Given the description of an element on the screen output the (x, y) to click on. 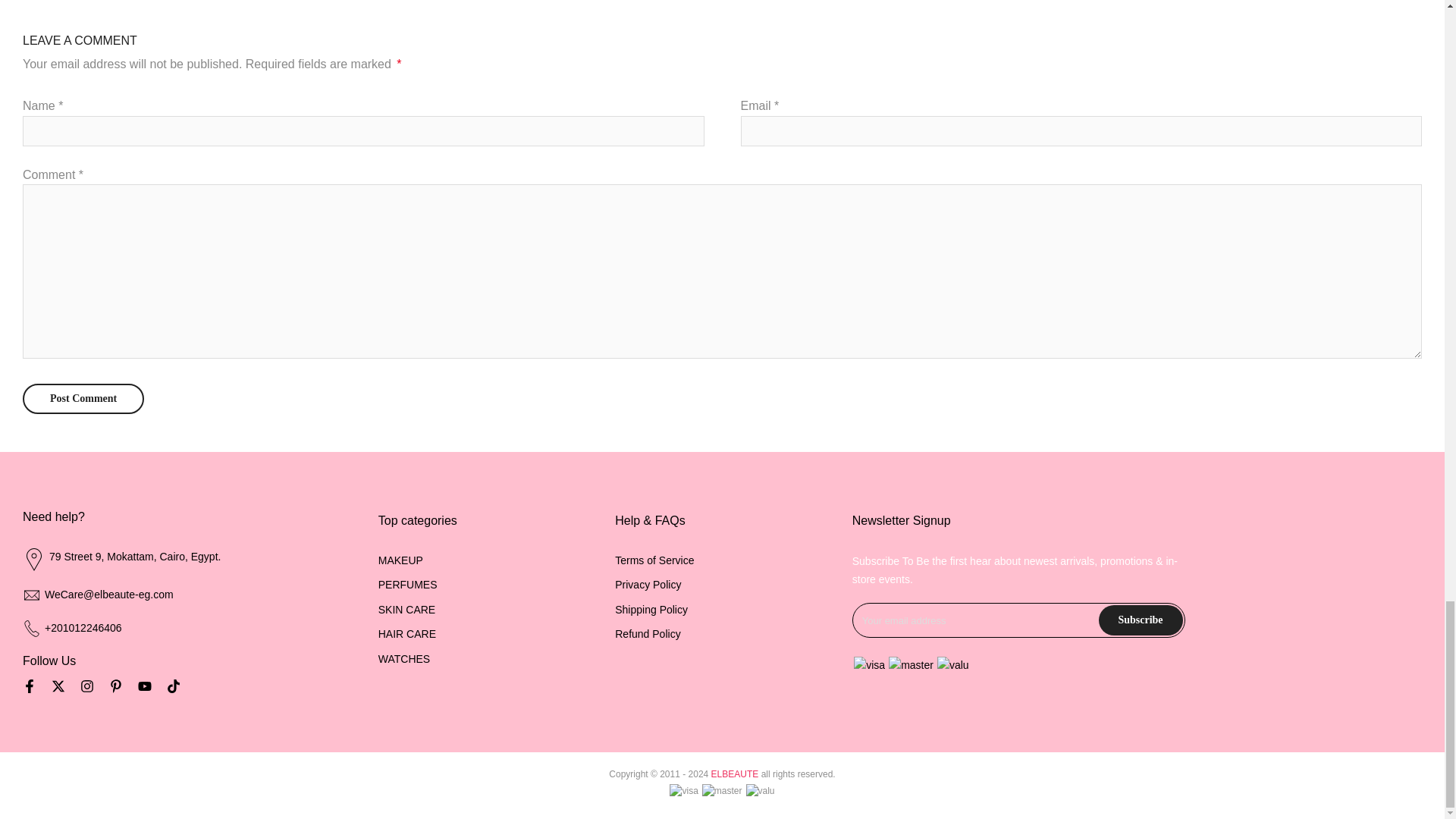
Post Comment (83, 399)
